Given the description of an element on the screen output the (x, y) to click on. 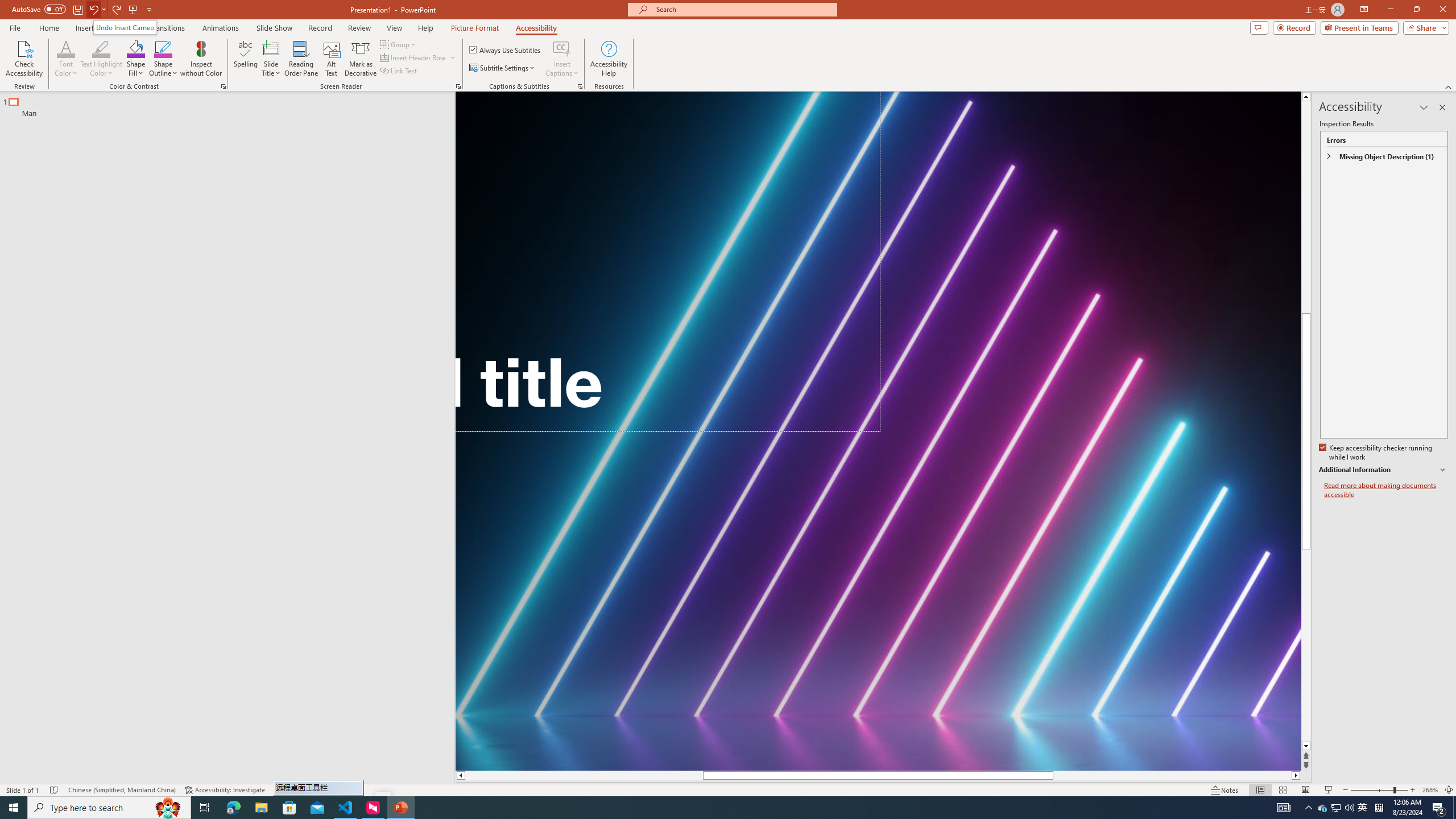
Screen Reader (458, 85)
Zoom 268% (1430, 790)
Insert Captions (561, 48)
Insert Header Row (413, 56)
Slide Title (271, 48)
